Given the description of an element on the screen output the (x, y) to click on. 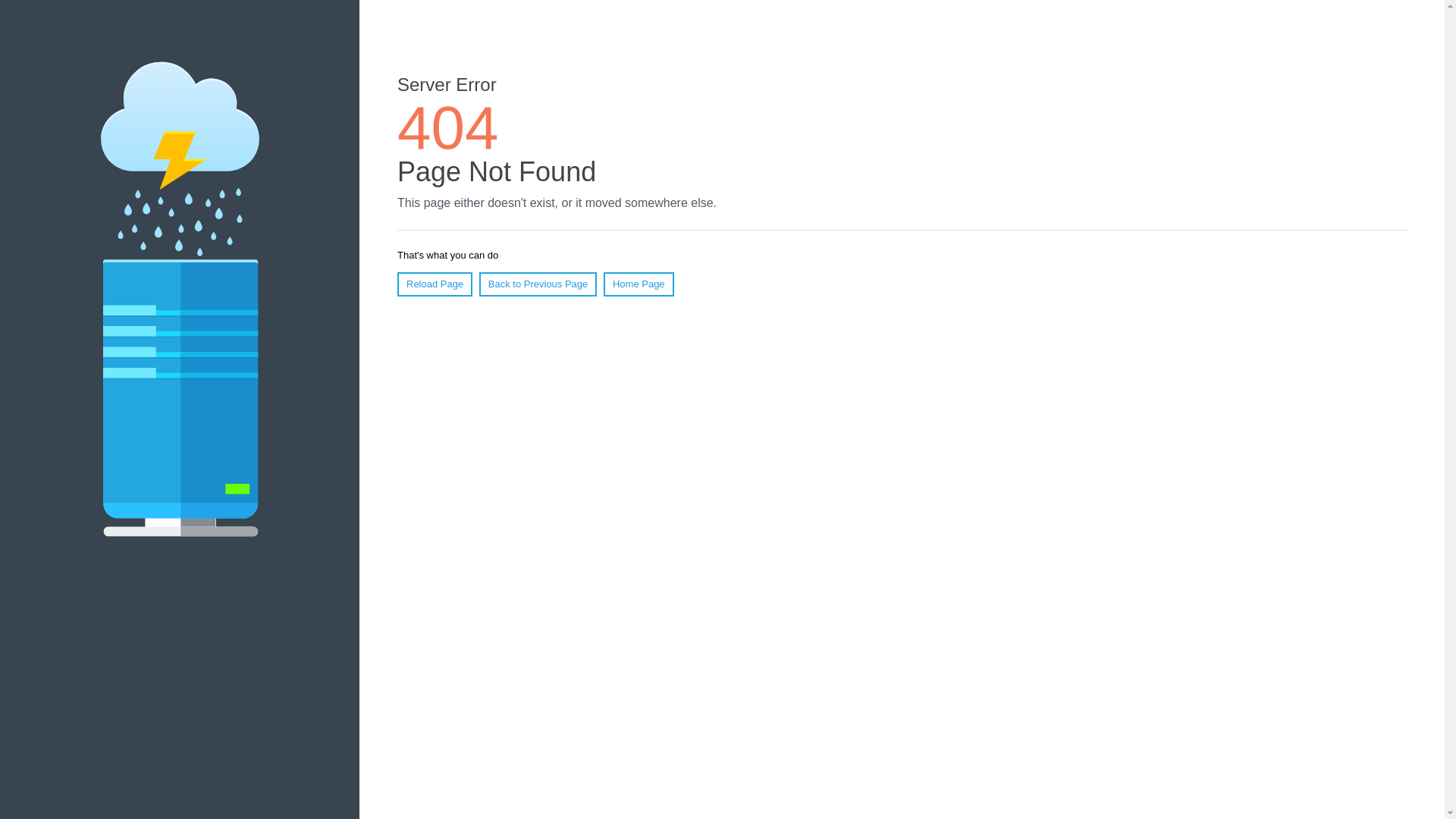
Home Page Element type: text (638, 284)
Back to Previous Page Element type: text (538, 284)
Reload Page Element type: text (434, 284)
